Given the description of an element on the screen output the (x, y) to click on. 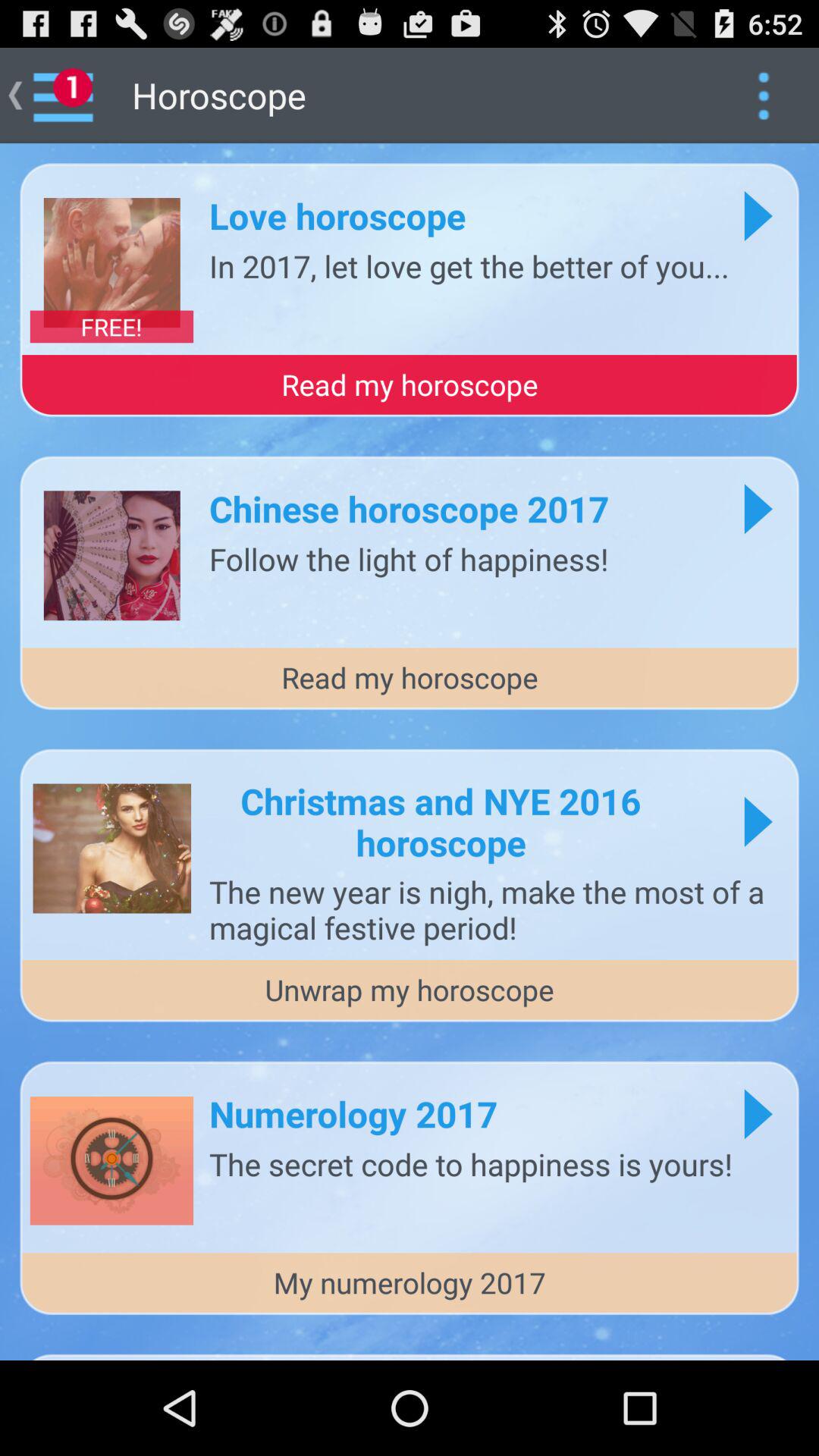
press the love horoscope app (337, 215)
